Given the description of an element on the screen output the (x, y) to click on. 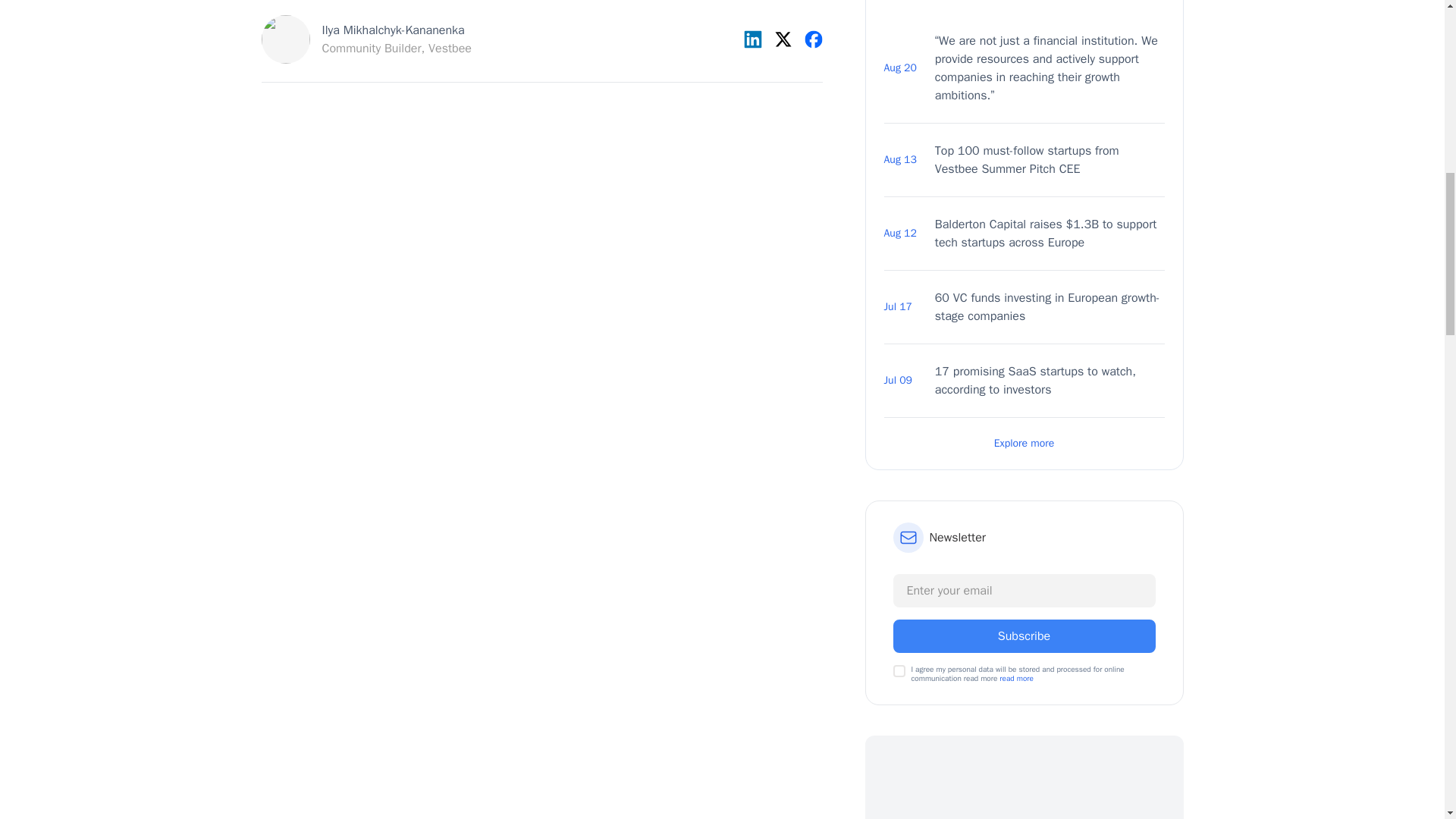
on (365, 39)
read more (899, 671)
Tweet this (1015, 678)
Subscribe (782, 39)
60 VC funds investing in European growth-stage companies (1024, 635)
Share on LinkedIn (1049, 307)
Top 100 must-follow startups from Vestbee Summer Pitch CEE (751, 39)
17 promising SaaS startups to watch, according to investors (1049, 159)
Explore more (1049, 380)
